Given the description of an element on the screen output the (x, y) to click on. 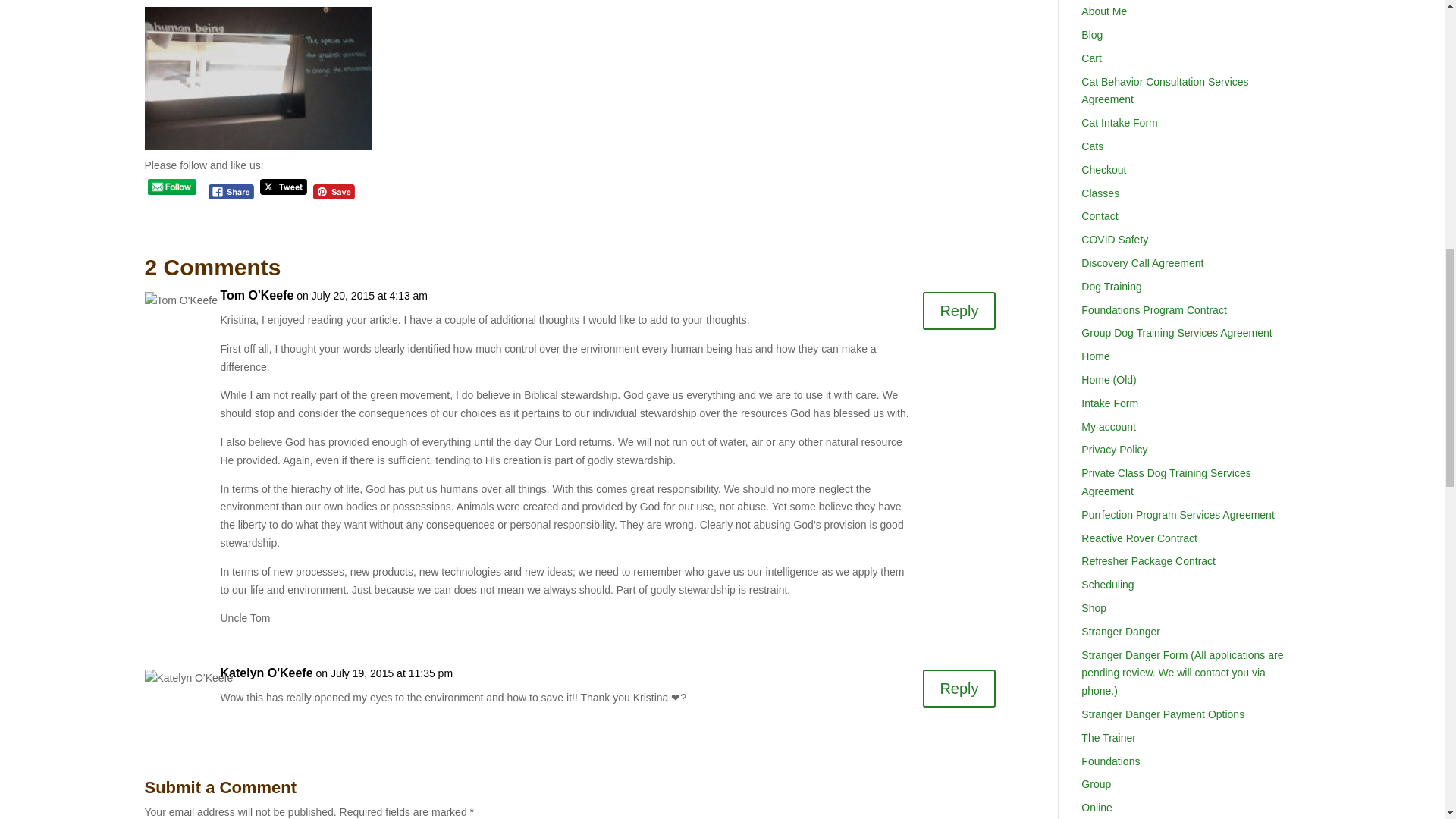
Facebook Share (231, 191)
Tweet (283, 186)
Pin Share (334, 191)
